Given the description of an element on the screen output the (x, y) to click on. 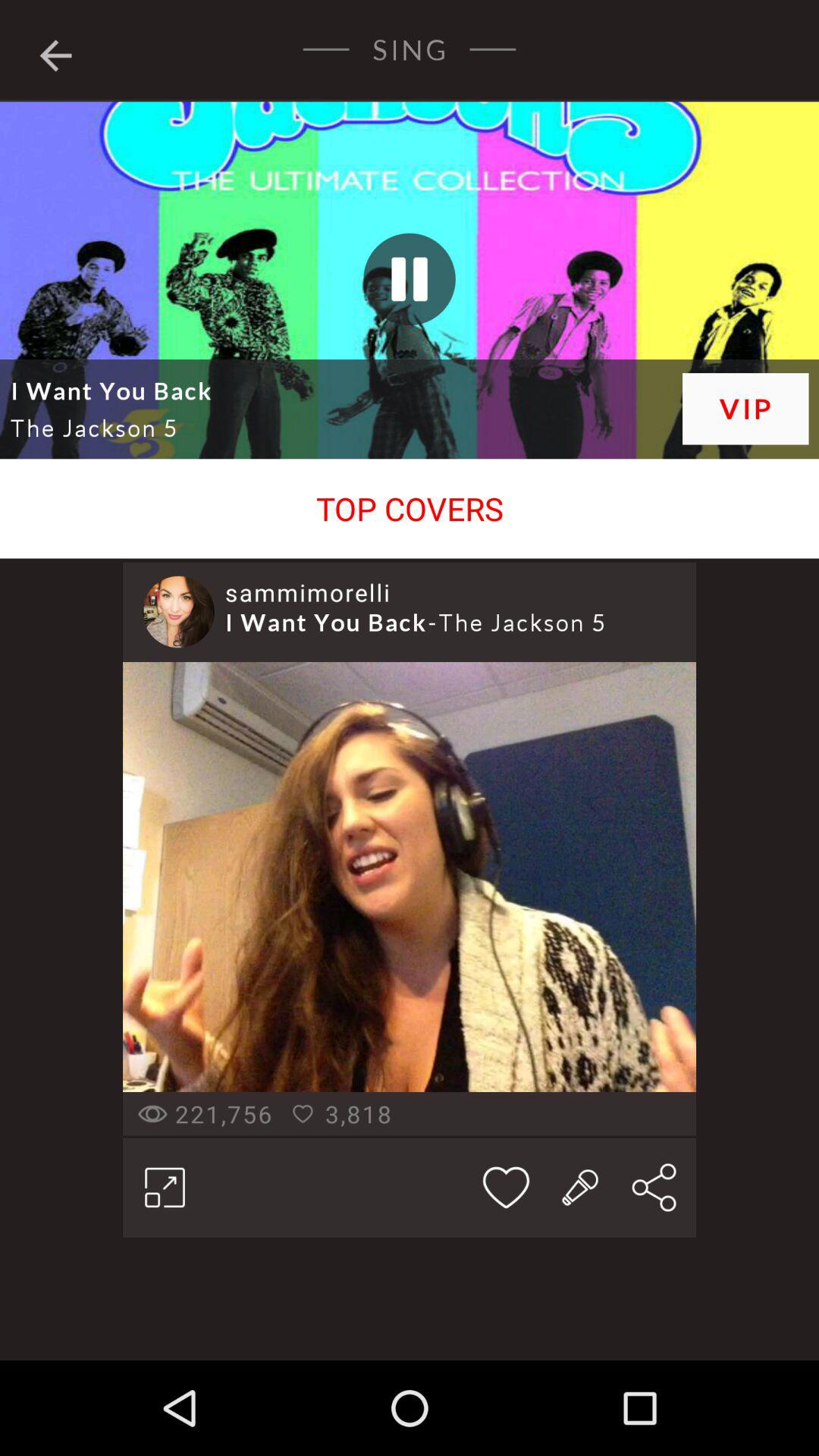
turn on icon next to the sing (55, 52)
